Given the description of an element on the screen output the (x, y) to click on. 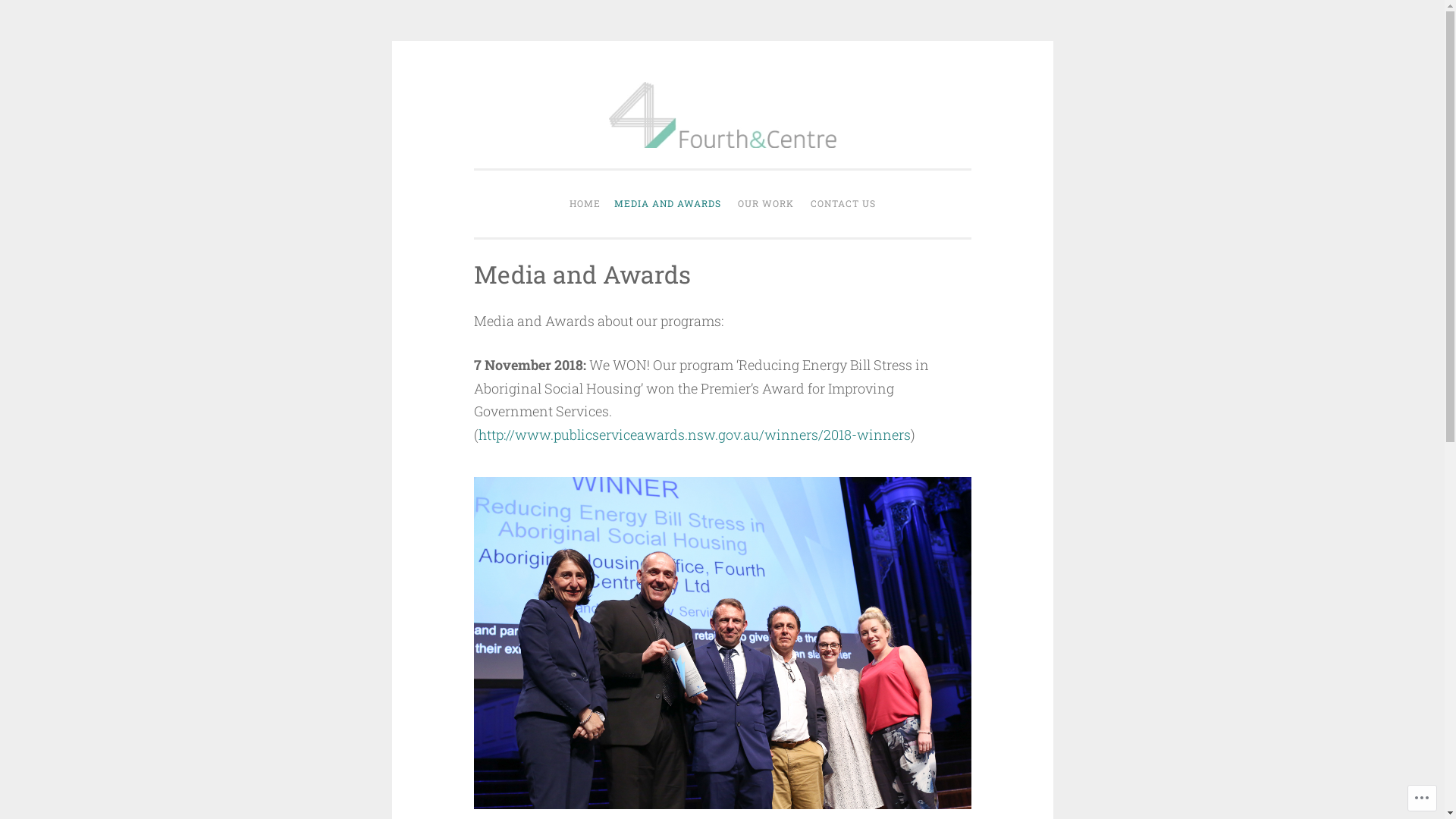
HOME Element type: text (584, 203)
CONTACT US Element type: text (842, 203)
OUR WORK Element type: text (765, 203)
Fourth&Centre Element type: text (791, 163)
MEDIA AND AWARDS Element type: text (666, 203)
